Given the description of an element on the screen output the (x, y) to click on. 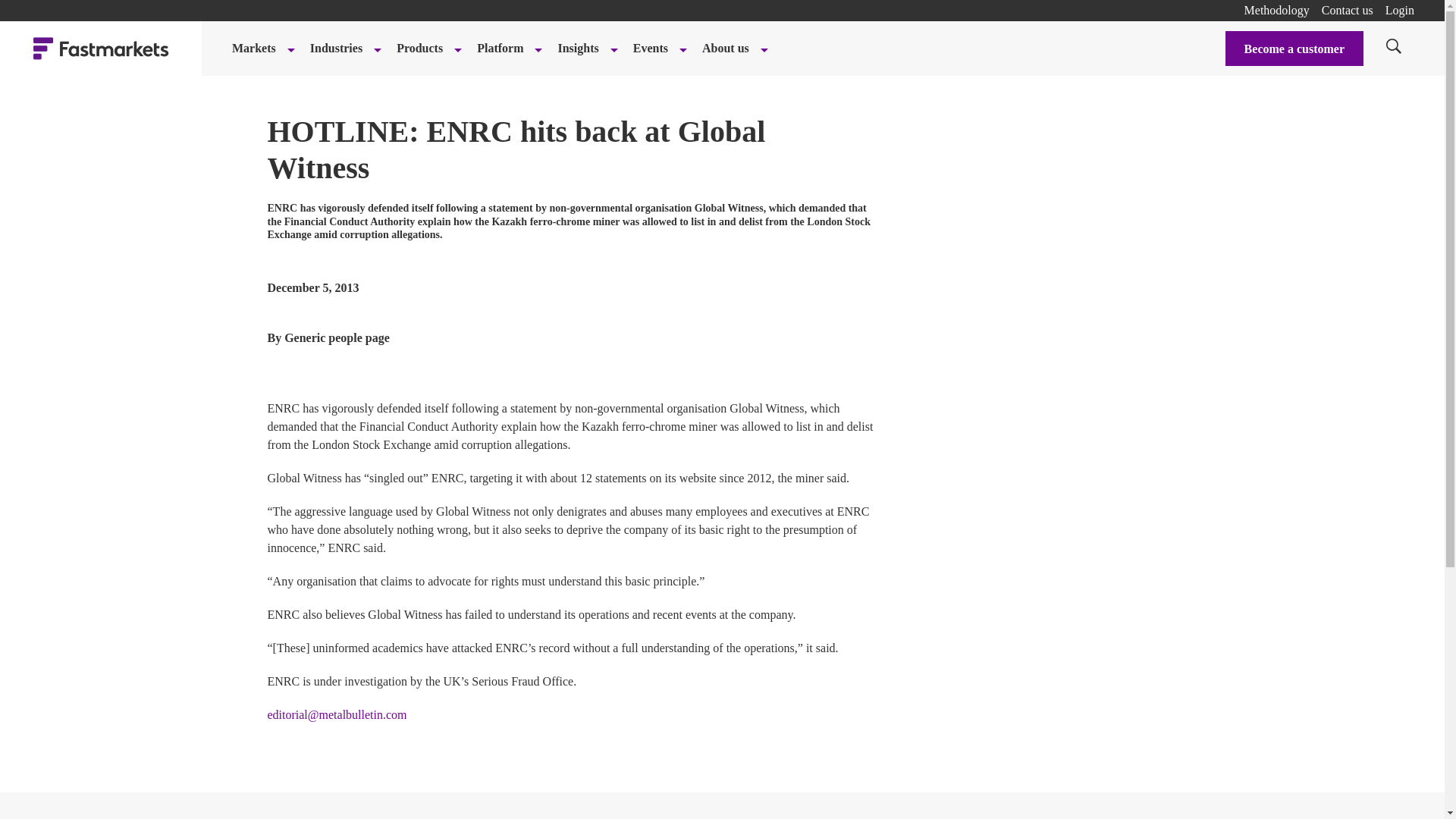
Login (1399, 10)
Contact us (1347, 10)
Methodology (1276, 10)
